Given the description of an element on the screen output the (x, y) to click on. 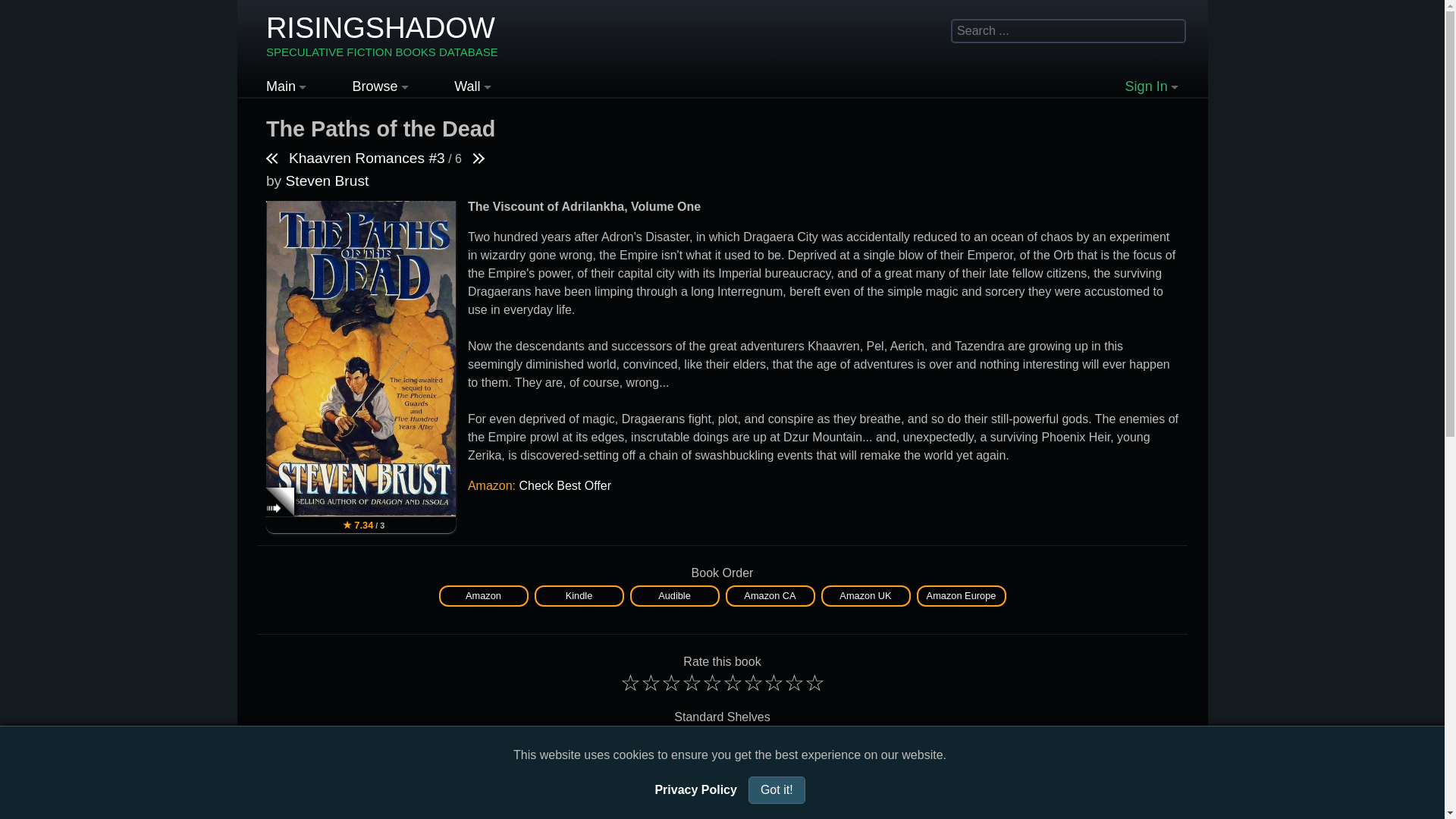
Amazon CA (769, 594)
Steven Brust (326, 180)
Read (498, 740)
Check Best Offer (564, 485)
Reading (587, 740)
Want to Buy (766, 740)
Read (381, 36)
Amazon UK (498, 740)
Want to Read (864, 594)
